Given the description of an element on the screen output the (x, y) to click on. 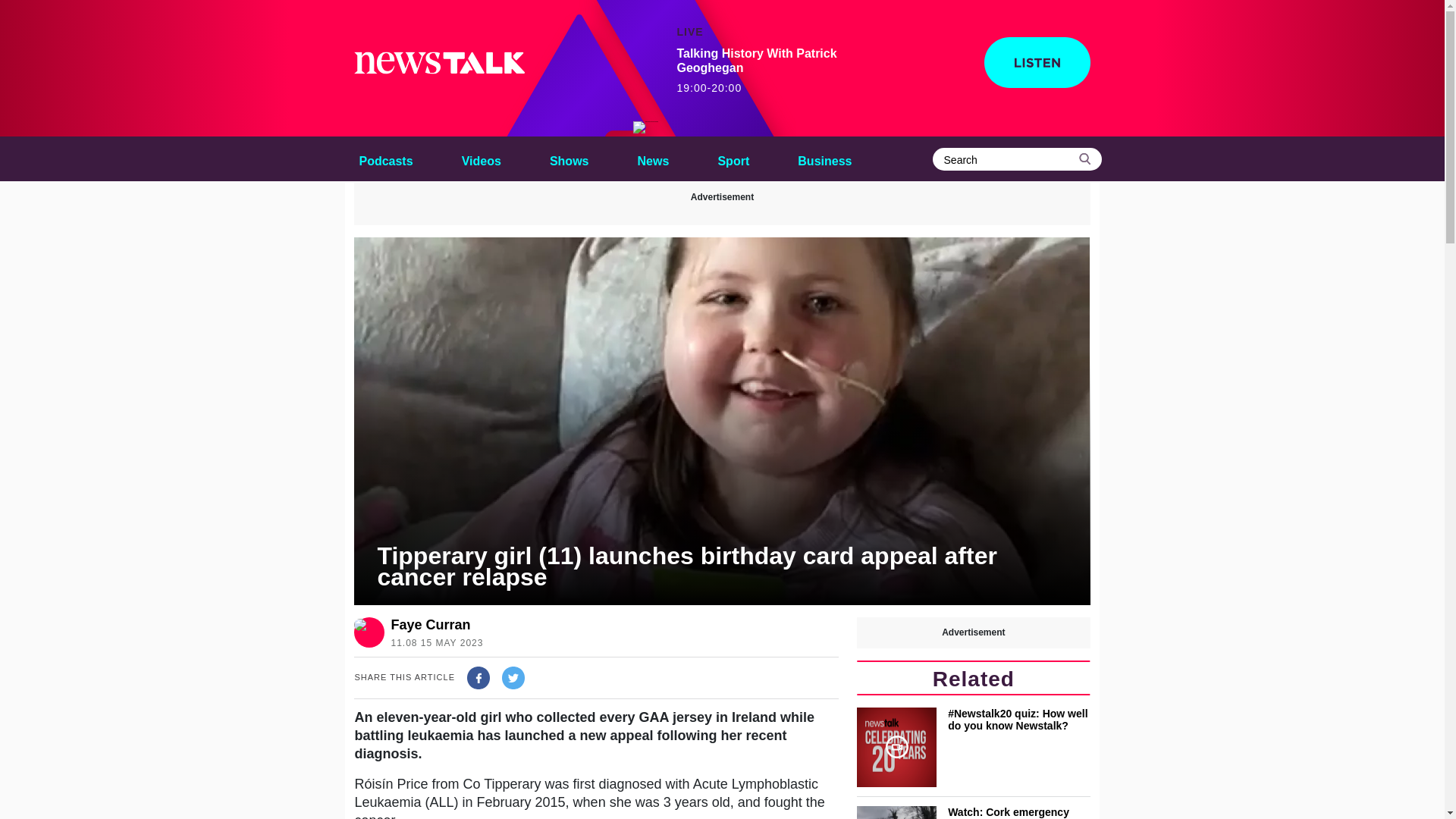
Sport (733, 158)
News (653, 158)
Business (824, 158)
Podcasts (384, 158)
Shows (569, 158)
Podcasts (384, 158)
Talking History With Patrick Geoghegan (771, 70)
Videos (646, 127)
News (481, 158)
Faye Curran (653, 158)
Business (433, 624)
Shows (824, 158)
Sport (569, 158)
Videos (733, 158)
